Given the description of an element on the screen output the (x, y) to click on. 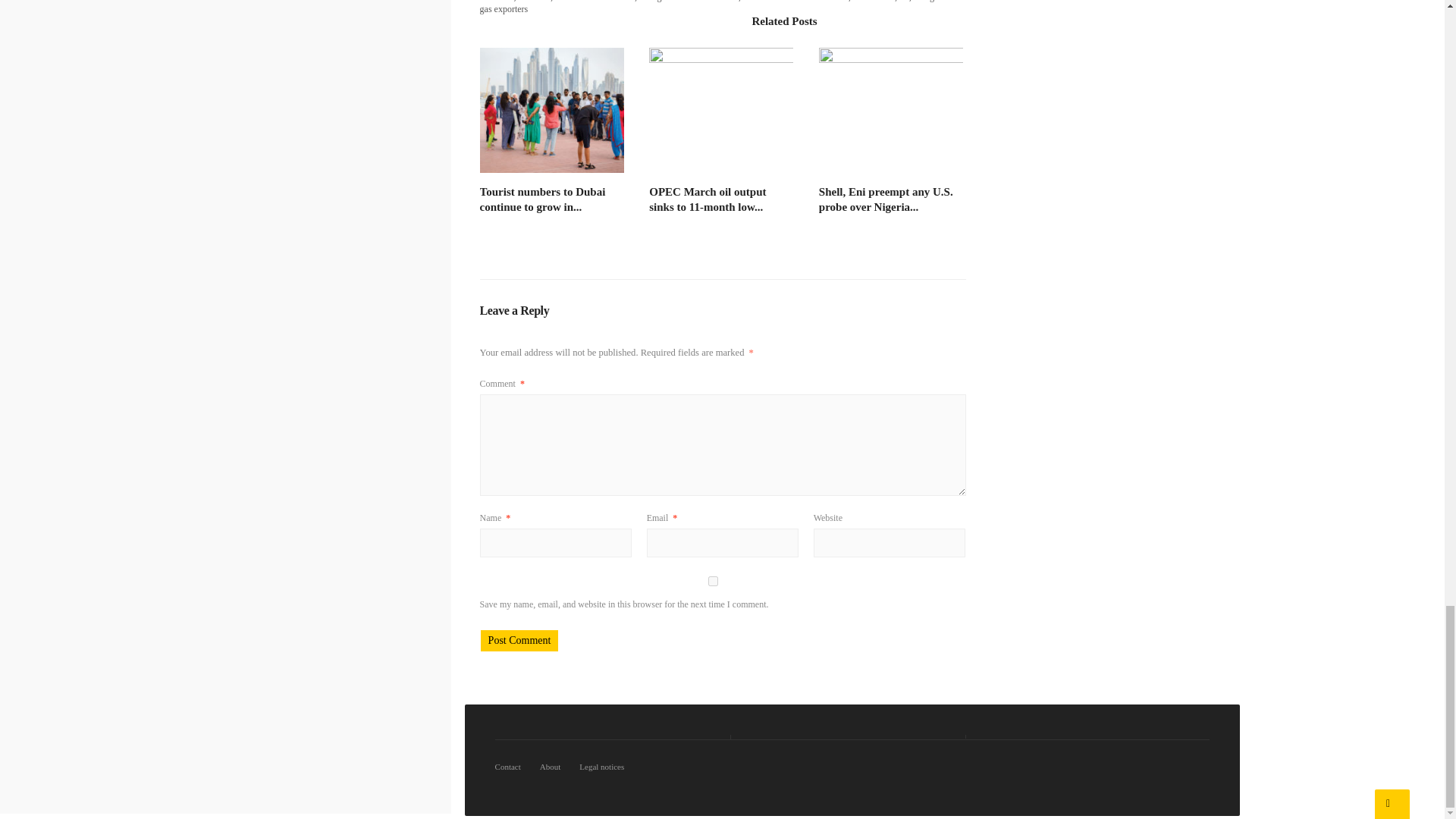
Business (534, 1)
senegal (927, 1)
offshore oil (874, 1)
Post Comment (519, 640)
Featured (570, 1)
Contact (511, 766)
Tourist numbers to Dubai continue to grow in 2019 (542, 198)
